Given the description of an element on the screen output the (x, y) to click on. 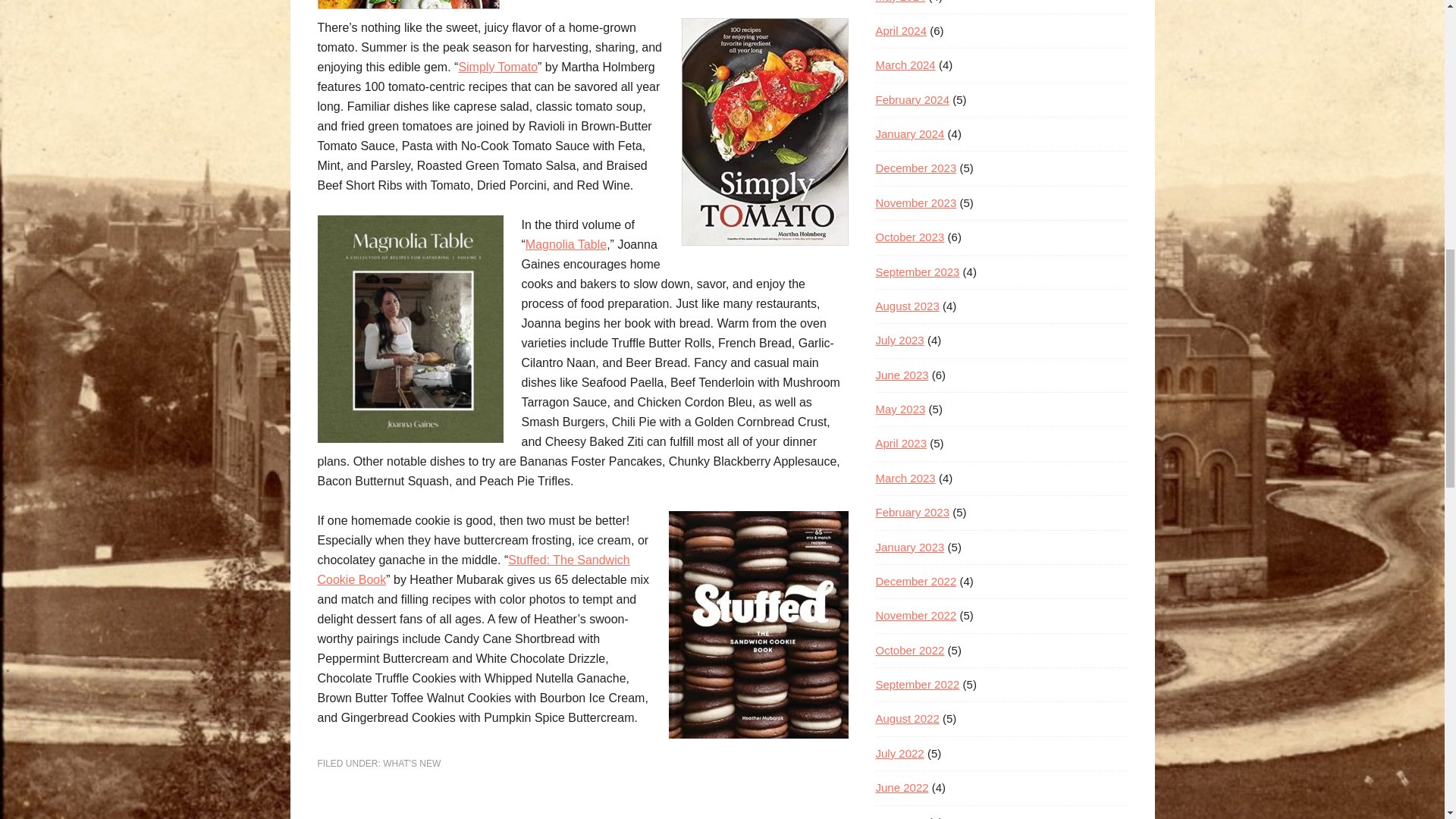
March 2024 (904, 64)
January 2024 (909, 133)
August 2023 (907, 305)
Simply Tomato (497, 66)
May 2023 (899, 408)
April 2023 (900, 442)
December 2023 (915, 167)
November 2023 (915, 202)
September 2023 (917, 271)
May 2024 (899, 1)
March 2023 (904, 477)
July 2023 (899, 339)
June 2023 (901, 374)
February 2024 (912, 99)
December 2022 (915, 581)
